Given the description of an element on the screen output the (x, y) to click on. 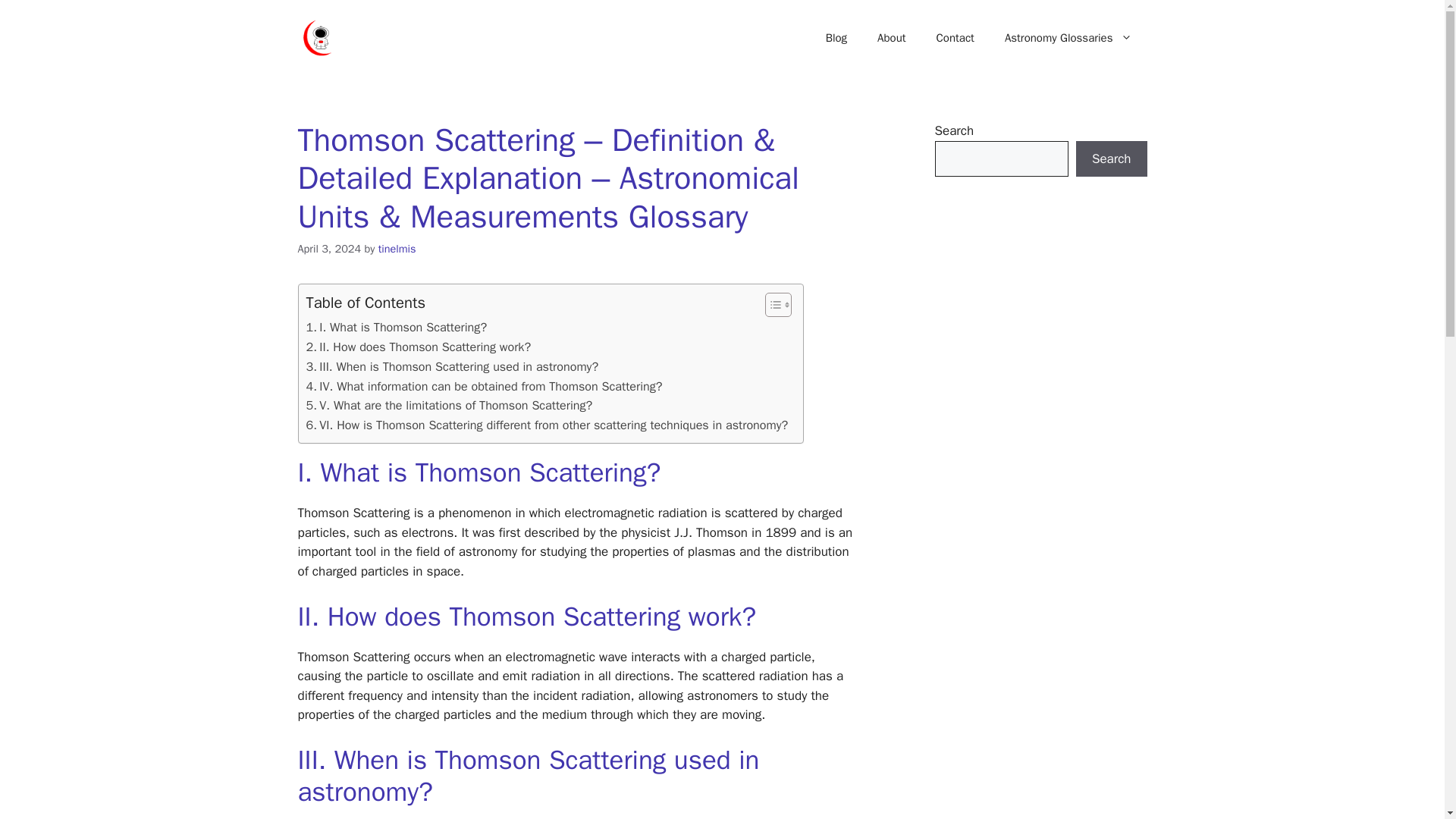
Contact (955, 37)
II. How does Thomson Scattering work? (418, 347)
tinelmis (397, 248)
Search (1111, 158)
Astronomy Glossaries (1068, 37)
Blog (835, 37)
III. When is Thomson Scattering used in astronomy? (451, 366)
